Given the description of an element on the screen output the (x, y) to click on. 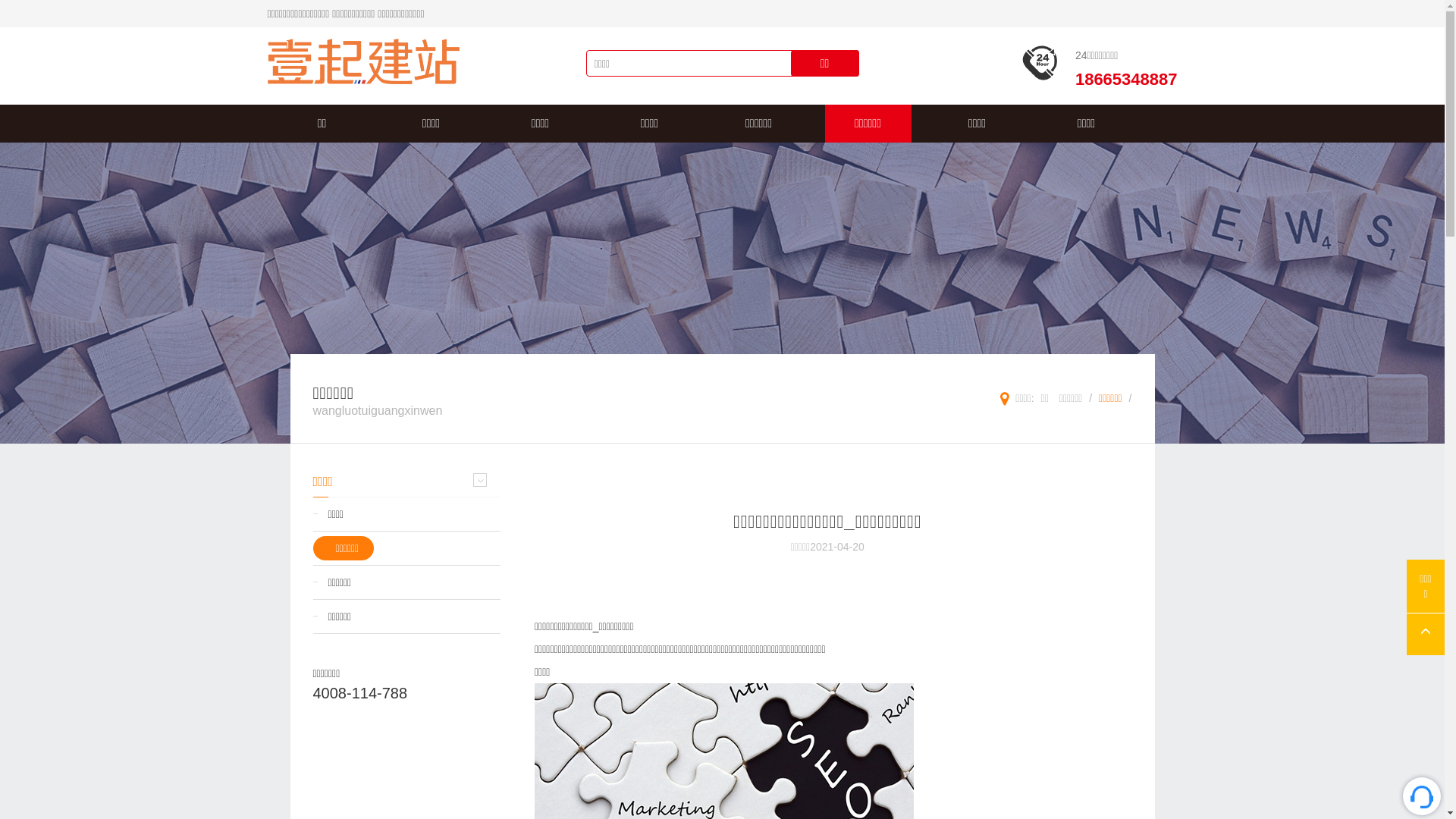
4008-114-788 Element type: text (359, 692)
